Given the description of an element on the screen output the (x, y) to click on. 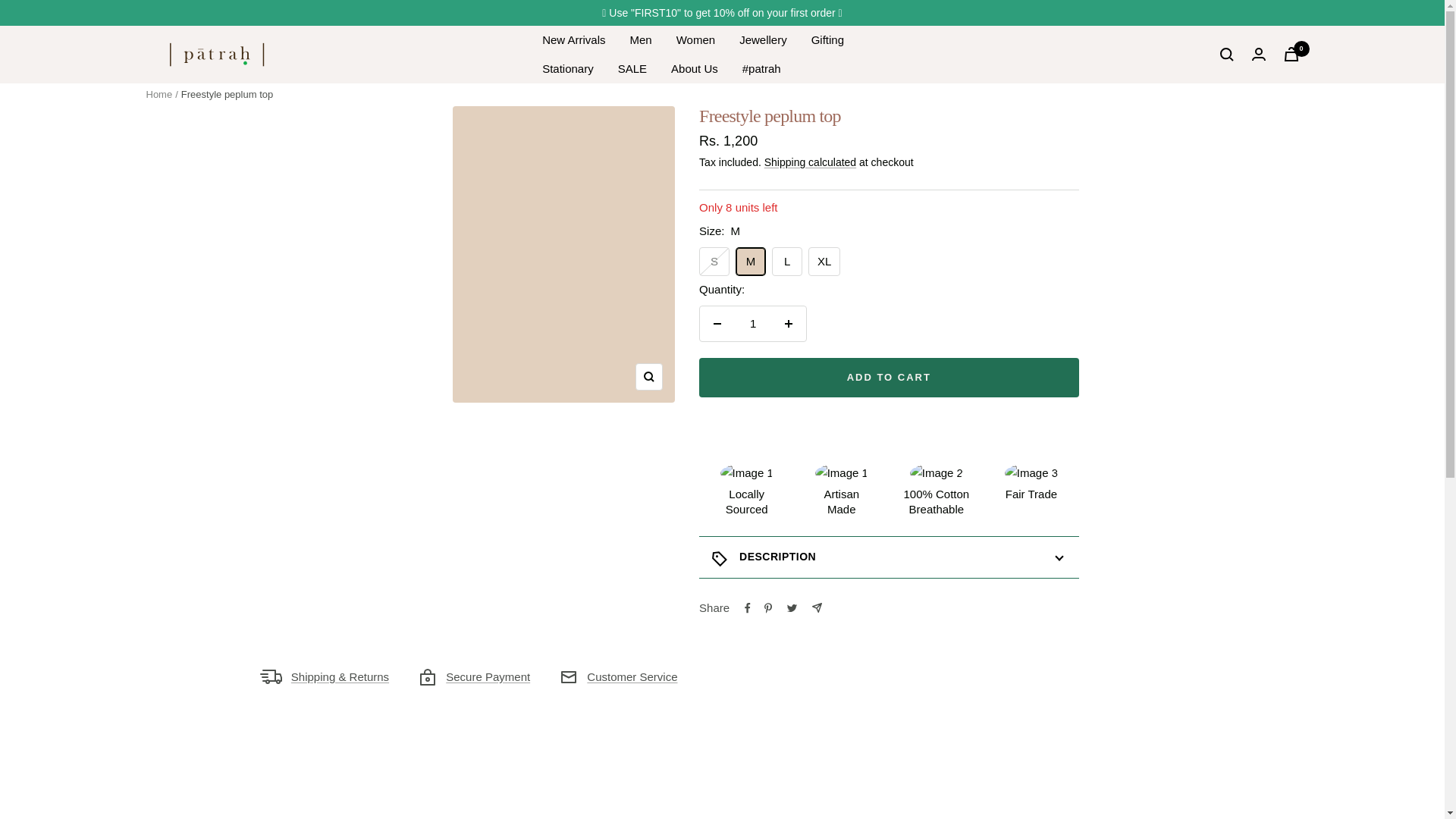
New Arrivals (573, 39)
Gifting (827, 39)
Stationary (567, 68)
0 (1291, 53)
Home (158, 93)
SALE (631, 68)
About Us (694, 68)
1 (753, 323)
